Given the description of an element on the screen output the (x, y) to click on. 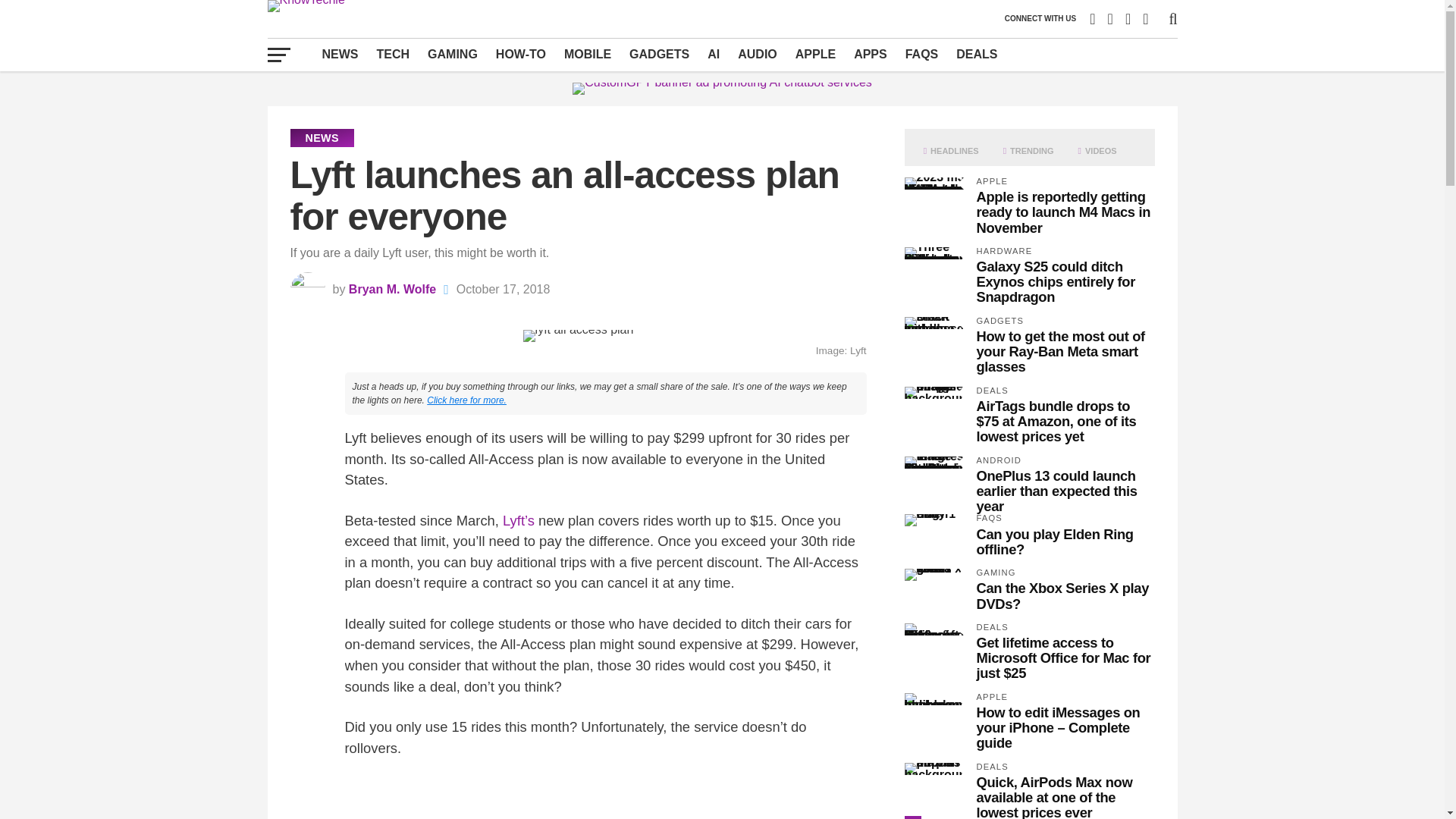
GAMING (452, 54)
GADGETS (659, 54)
DEALS (976, 54)
FAQS (921, 54)
APPLE (815, 54)
APPS (870, 54)
TECH (392, 54)
NEWS (339, 54)
AI (713, 54)
Click here for more. (466, 399)
